Given the description of an element on the screen output the (x, y) to click on. 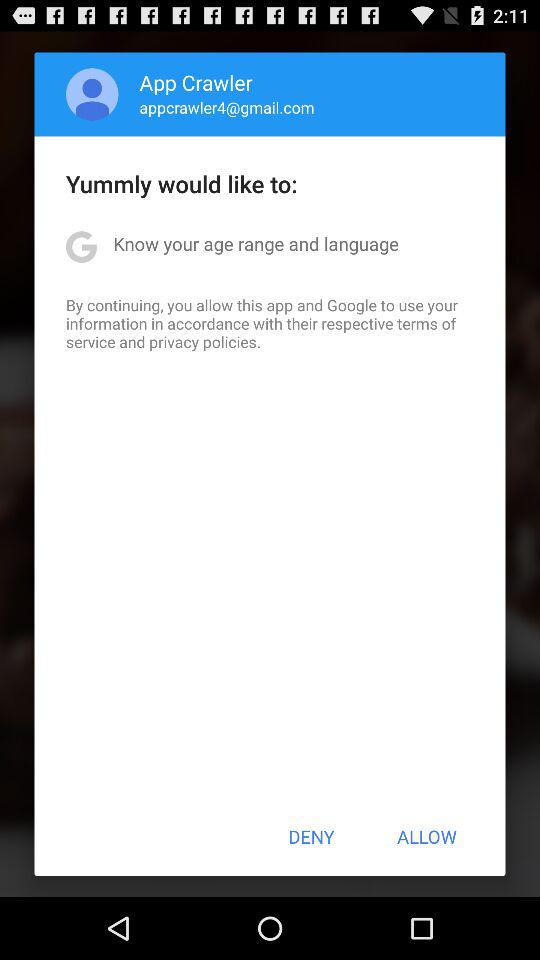
press icon at the bottom (311, 836)
